Given the description of an element on the screen output the (x, y) to click on. 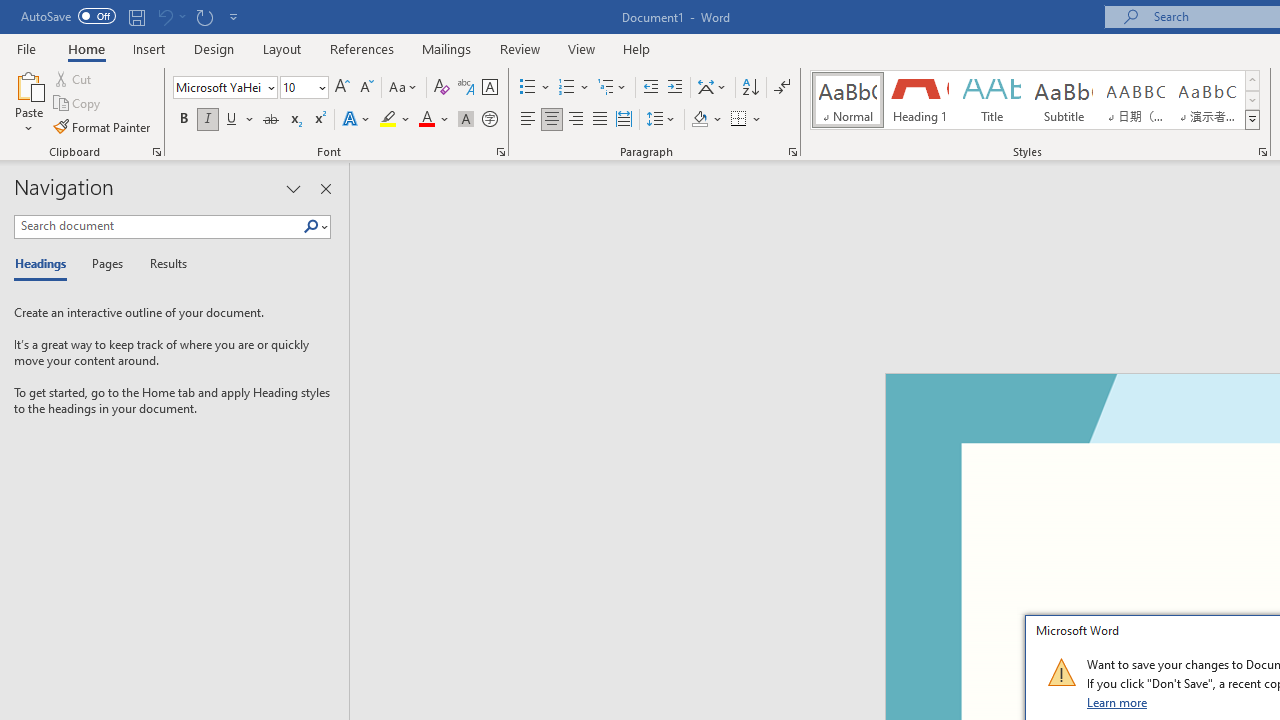
Format Painter (103, 126)
Bullets (535, 87)
Multilevel List (613, 87)
Borders (746, 119)
Font Color (434, 119)
File Tab (26, 48)
Font (224, 87)
Distributed (623, 119)
Styles... (1262, 151)
Superscript (319, 119)
Styles (1252, 120)
View (582, 48)
Subscript (294, 119)
Shading RGB(0, 0, 0) (699, 119)
